Given the description of an element on the screen output the (x, y) to click on. 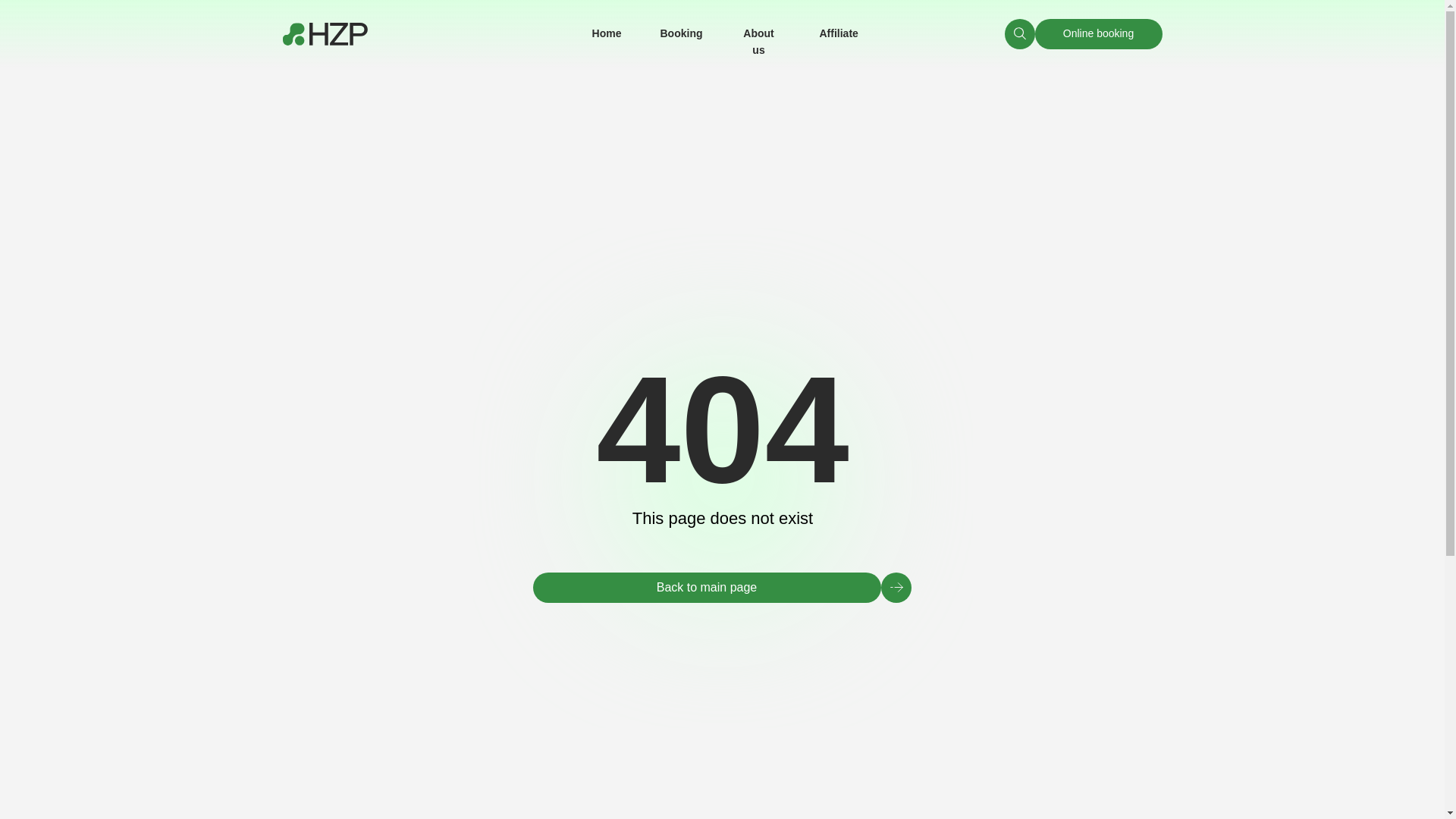
Home (607, 33)
Affiliate (837, 33)
Online booking (1097, 33)
Booking (680, 33)
Back to main page (706, 587)
About us (757, 41)
